Given the description of an element on the screen output the (x, y) to click on. 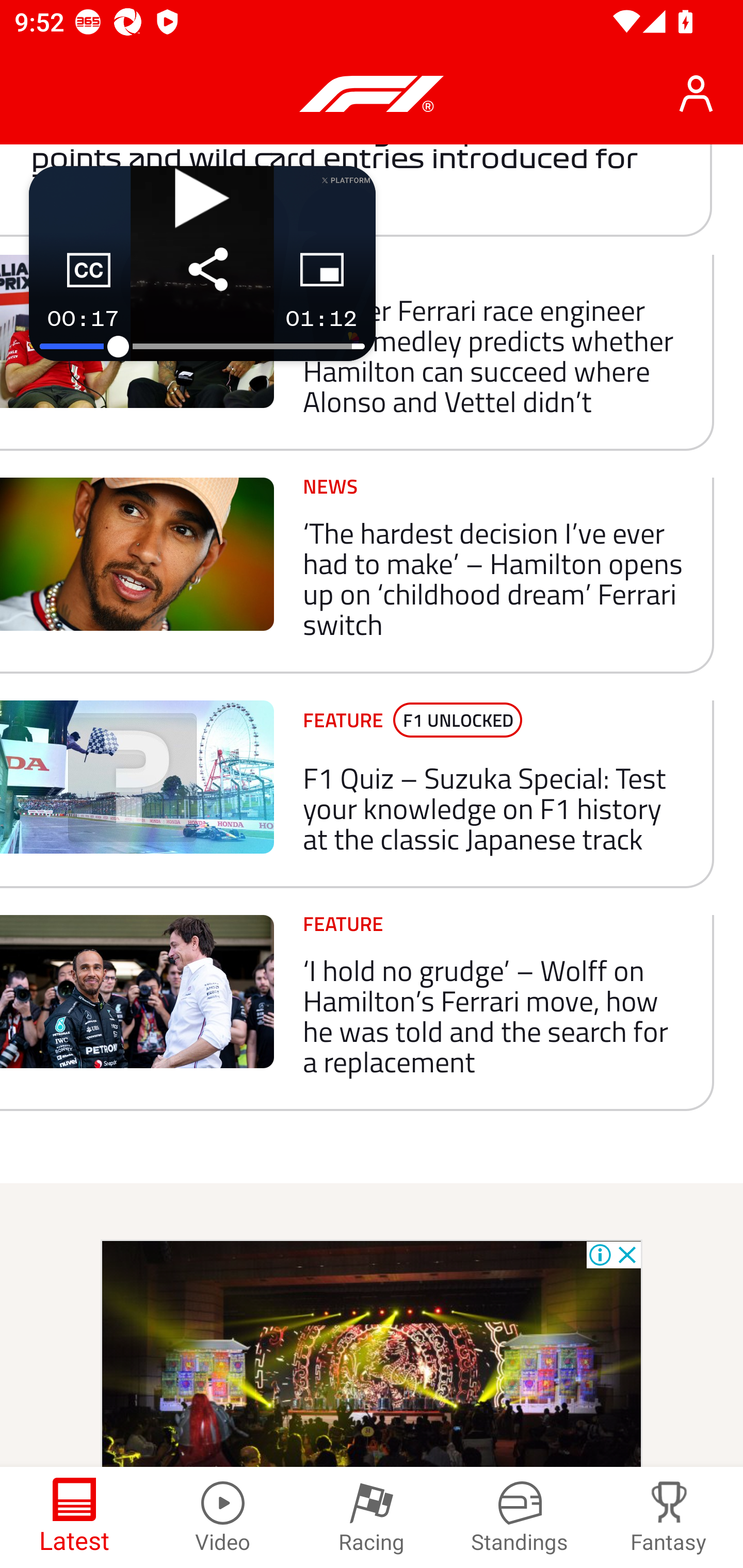
annual-dinner-event-for-company (371, 1352)
Video (222, 1517)
Racing (371, 1517)
Standings (519, 1517)
Fantasy (668, 1517)
